Given the description of an element on the screen output the (x, y) to click on. 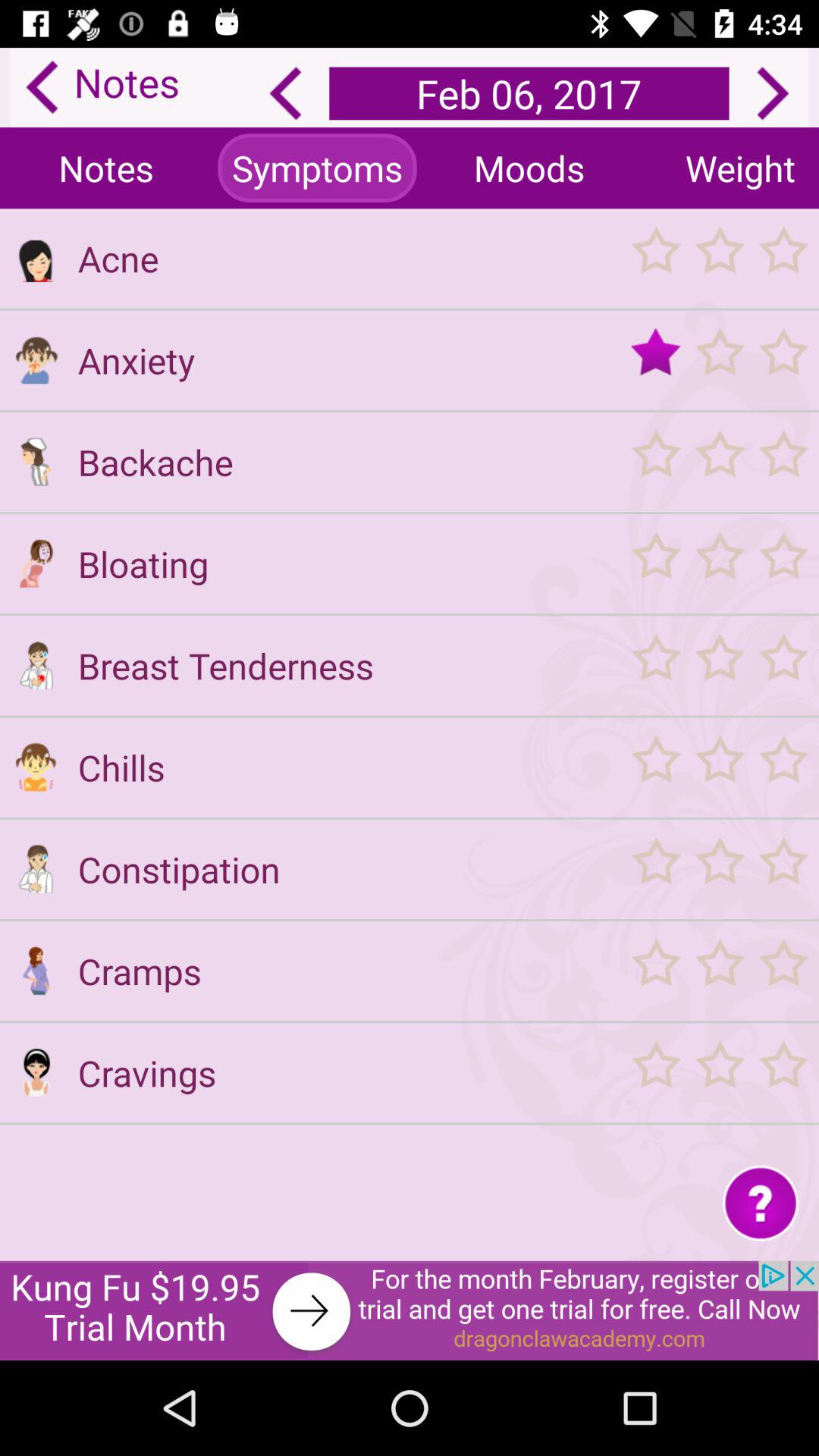
rate by clicking stars (719, 970)
